Given the description of an element on the screen output the (x, y) to click on. 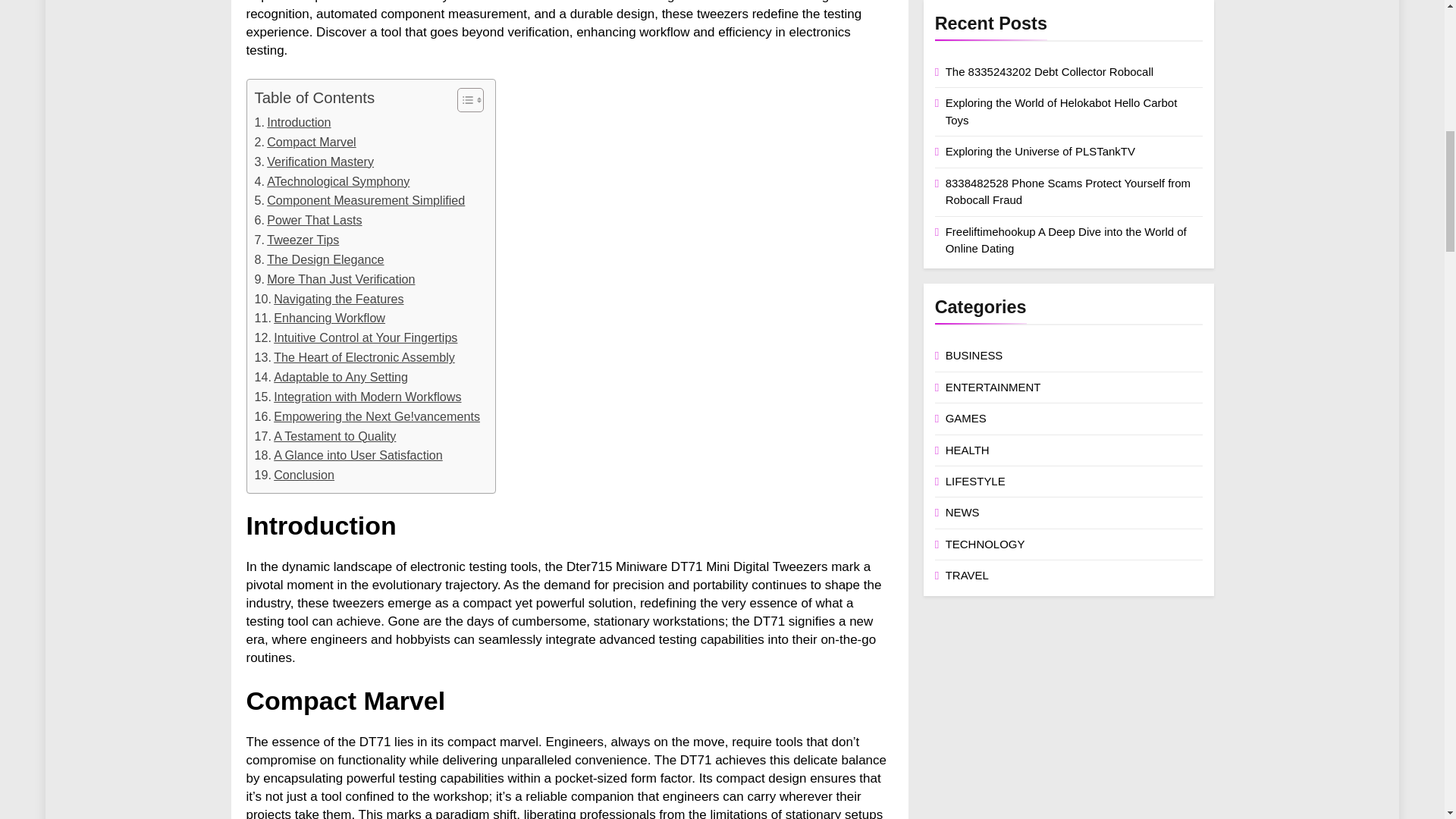
More Than Just Verification (334, 279)
Enhancing Workflow (319, 318)
Intuitive Control at Your Fingertips (356, 338)
Enhancing Workflow (319, 318)
Compact Marvel (305, 142)
The Design Elegance (319, 260)
Component Measurement Simplified (359, 200)
Power That Lasts (308, 220)
Compact Marvel (305, 142)
Verification Mastery (314, 161)
